Given the description of an element on the screen output the (x, y) to click on. 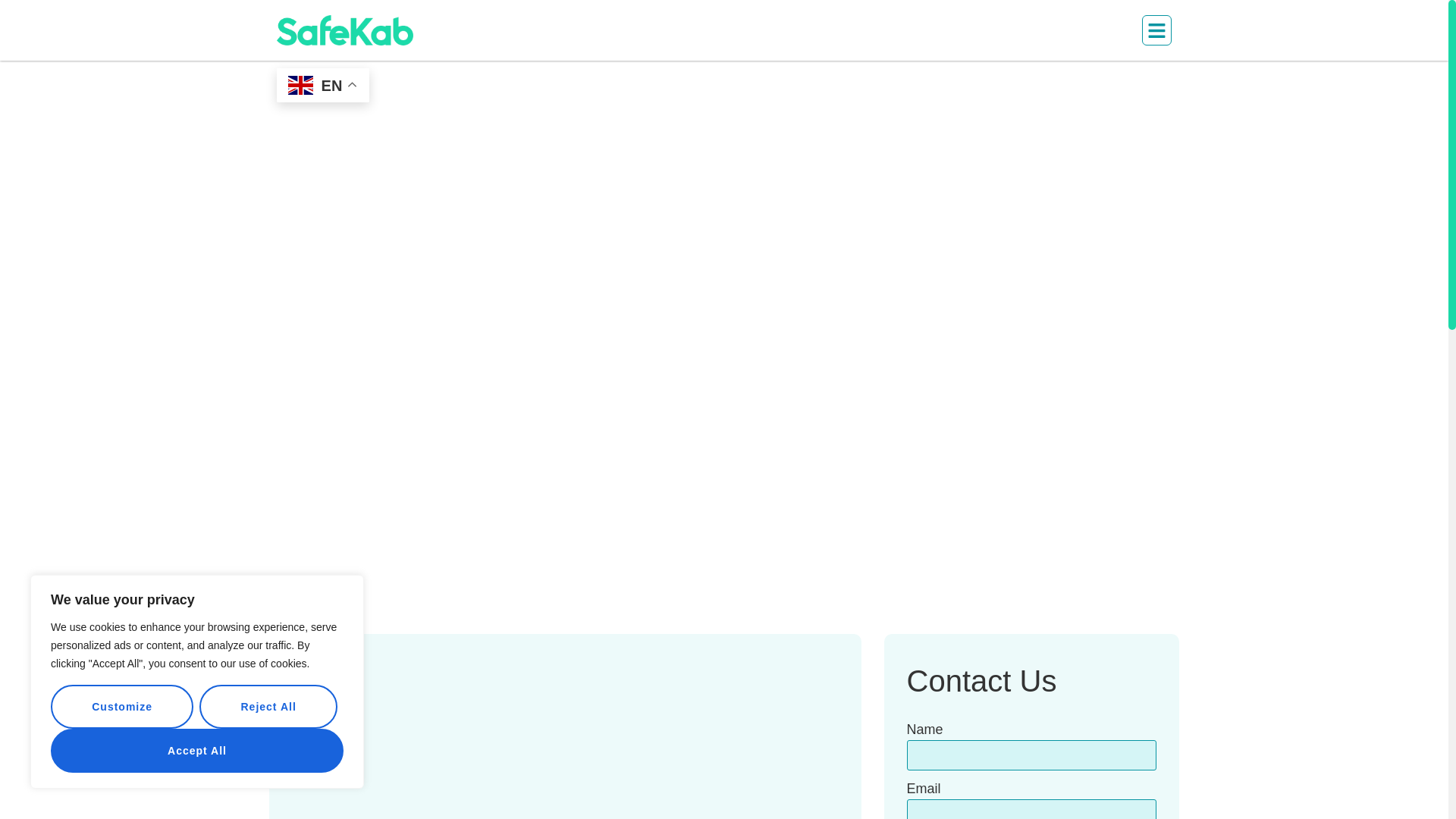
Reject All (268, 706)
Accept All (196, 750)
Customize (121, 706)
